Given the description of an element on the screen output the (x, y) to click on. 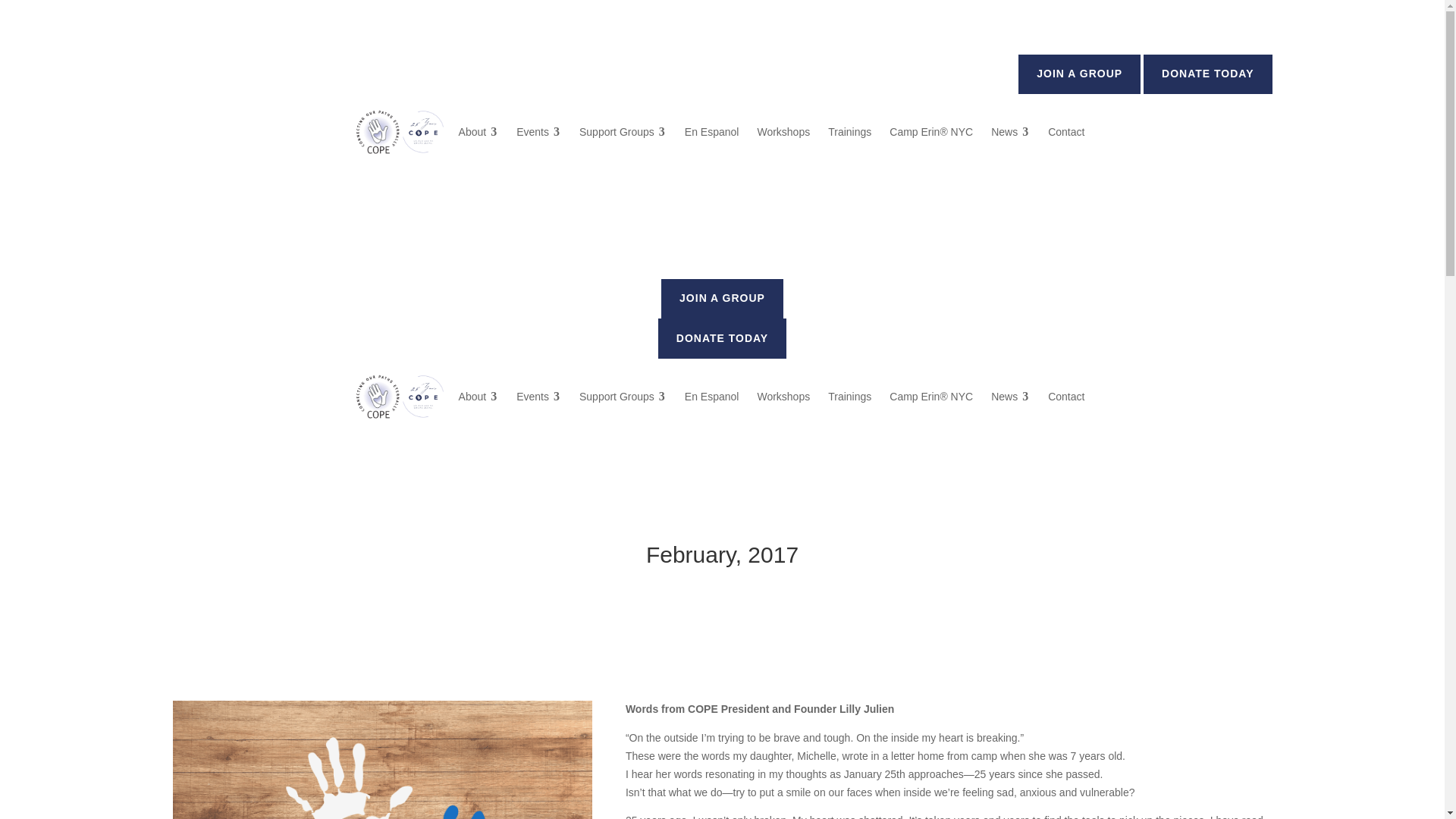
COPE Contributors (382, 760)
Support Groups (622, 131)
Events (538, 131)
About (478, 131)
En Espanol (711, 131)
Trainings (849, 131)
Contact (1066, 131)
Workshops (783, 131)
JOIN A GROUP (1078, 74)
DONATE TODAY (1206, 74)
